Given the description of an element on the screen output the (x, y) to click on. 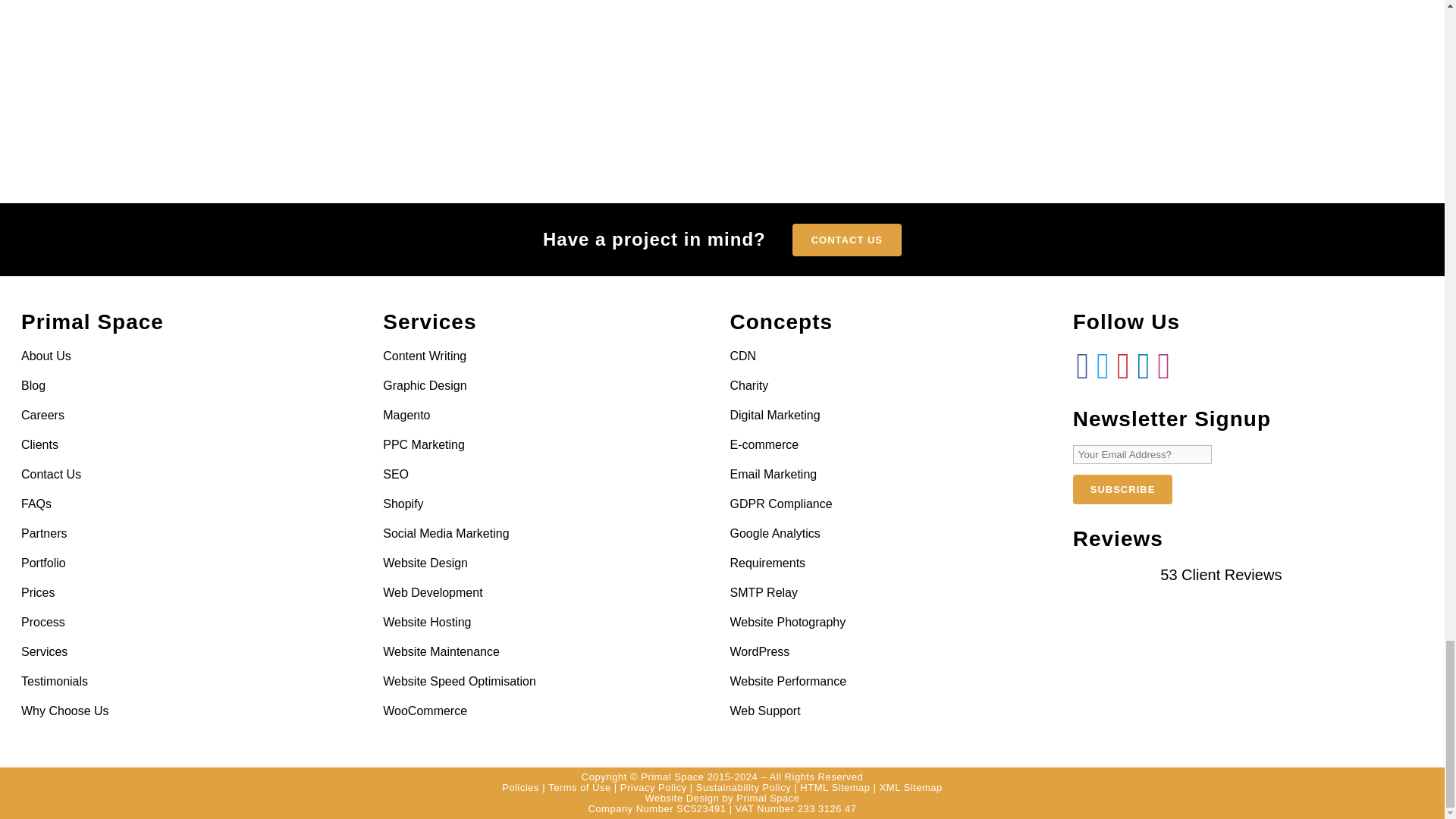
Subscribe (1123, 489)
